Given the description of an element on the screen output the (x, y) to click on. 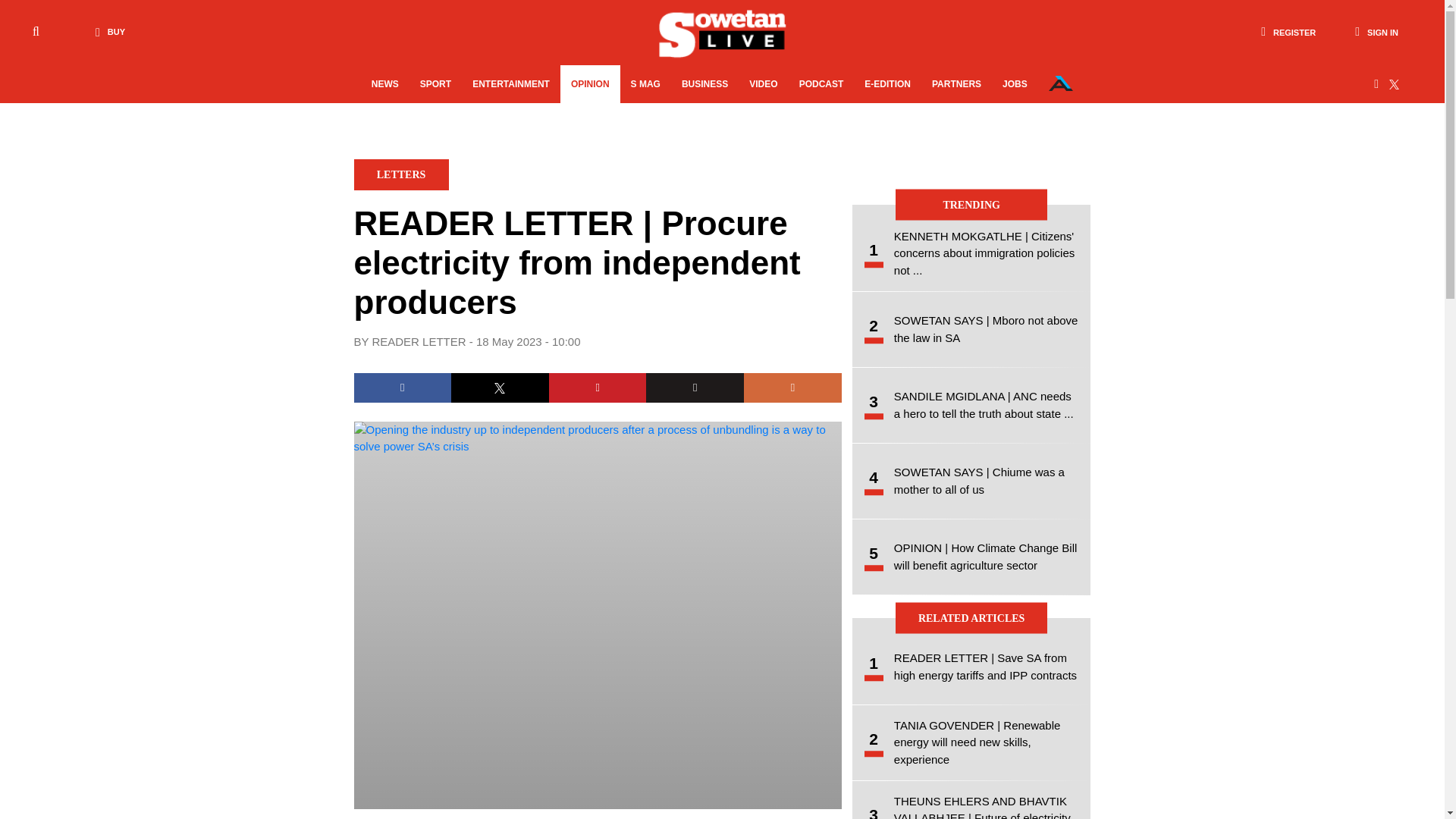
S MAG (645, 84)
ENTERTAINMENT (510, 84)
PODCAST (821, 84)
BUSINESS (704, 84)
NEWS (385, 84)
VIDEO (762, 84)
SIGN IN (1376, 32)
Our Network (1060, 83)
JOBS (1014, 84)
PARTNERS (956, 84)
